Given the description of an element on the screen output the (x, y) to click on. 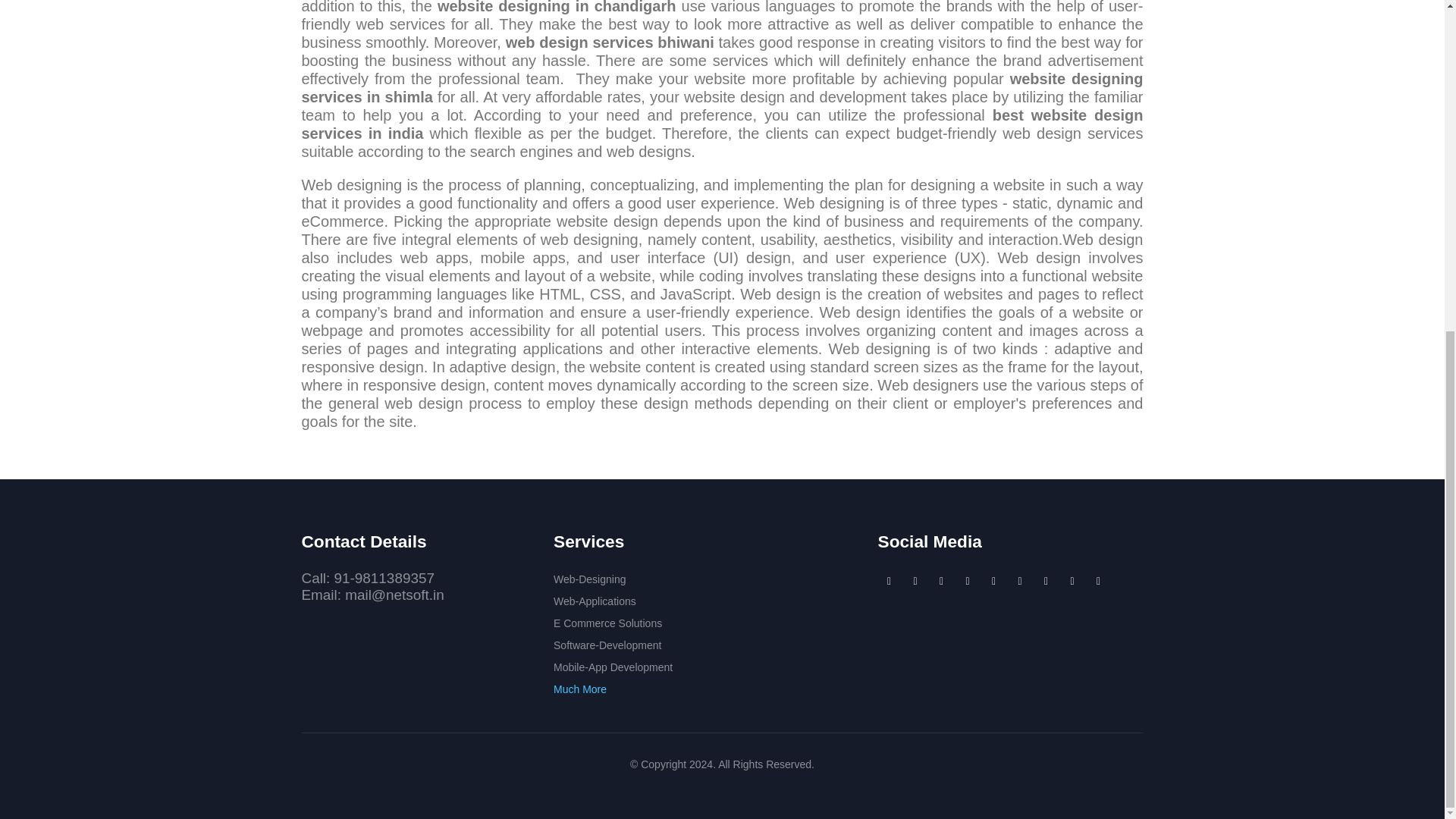
Linkedin (967, 580)
Facebook (915, 580)
PInterest (994, 580)
91-9811389357 (383, 578)
Mobile-App Development (612, 666)
Youtube (889, 580)
Twitter (941, 580)
Much More (580, 689)
Web-Designing (589, 579)
Software-Development (607, 645)
